Given the description of an element on the screen output the (x, y) to click on. 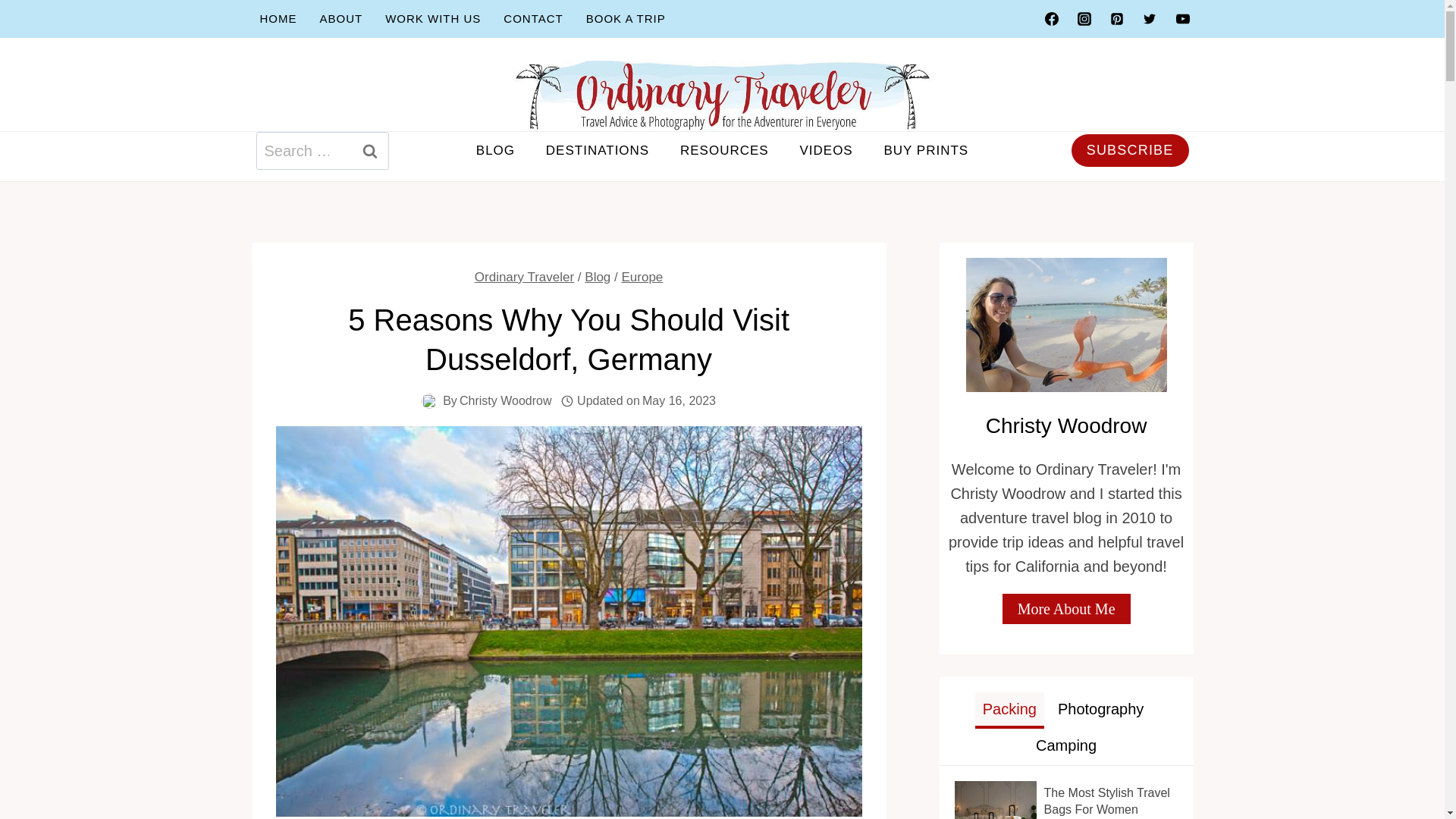
BLOG (494, 150)
BOOK A TRIP (626, 18)
Ordinary Traveler (523, 277)
BUY PRINTS (925, 150)
WORK WITH US (433, 18)
DESTINATIONS (596, 150)
Blog (597, 277)
Search (369, 150)
CONTACT (532, 18)
RESOURCES (724, 150)
ABOUT (340, 18)
HOME (278, 18)
VIDEOS (825, 150)
Christy Woodrow (505, 400)
Search (369, 150)
